Given the description of an element on the screen output the (x, y) to click on. 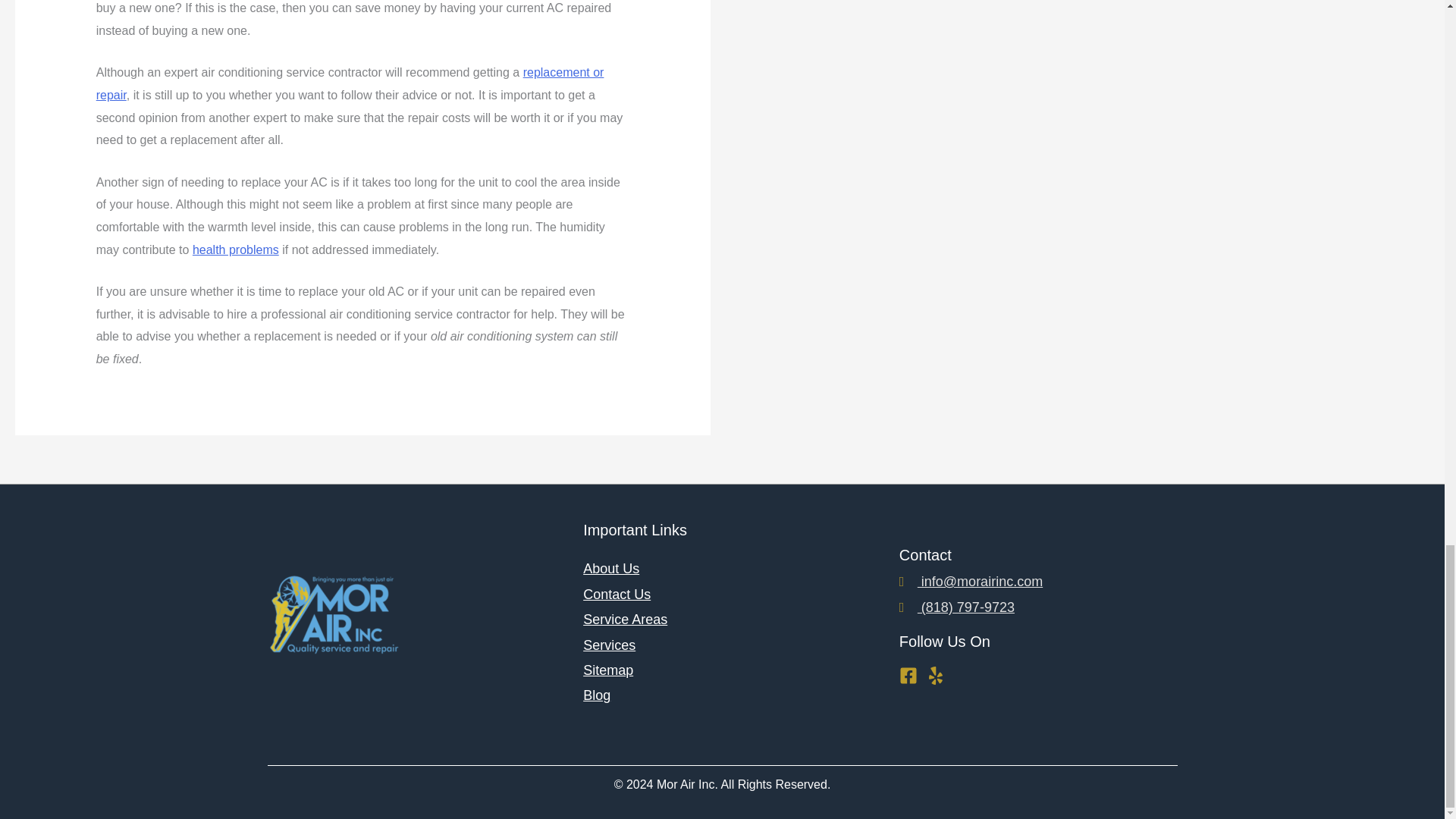
Service Areas (624, 619)
About Us (611, 568)
Contact Us (616, 594)
health problems (235, 249)
replacement or repair (350, 83)
